Given the description of an element on the screen output the (x, y) to click on. 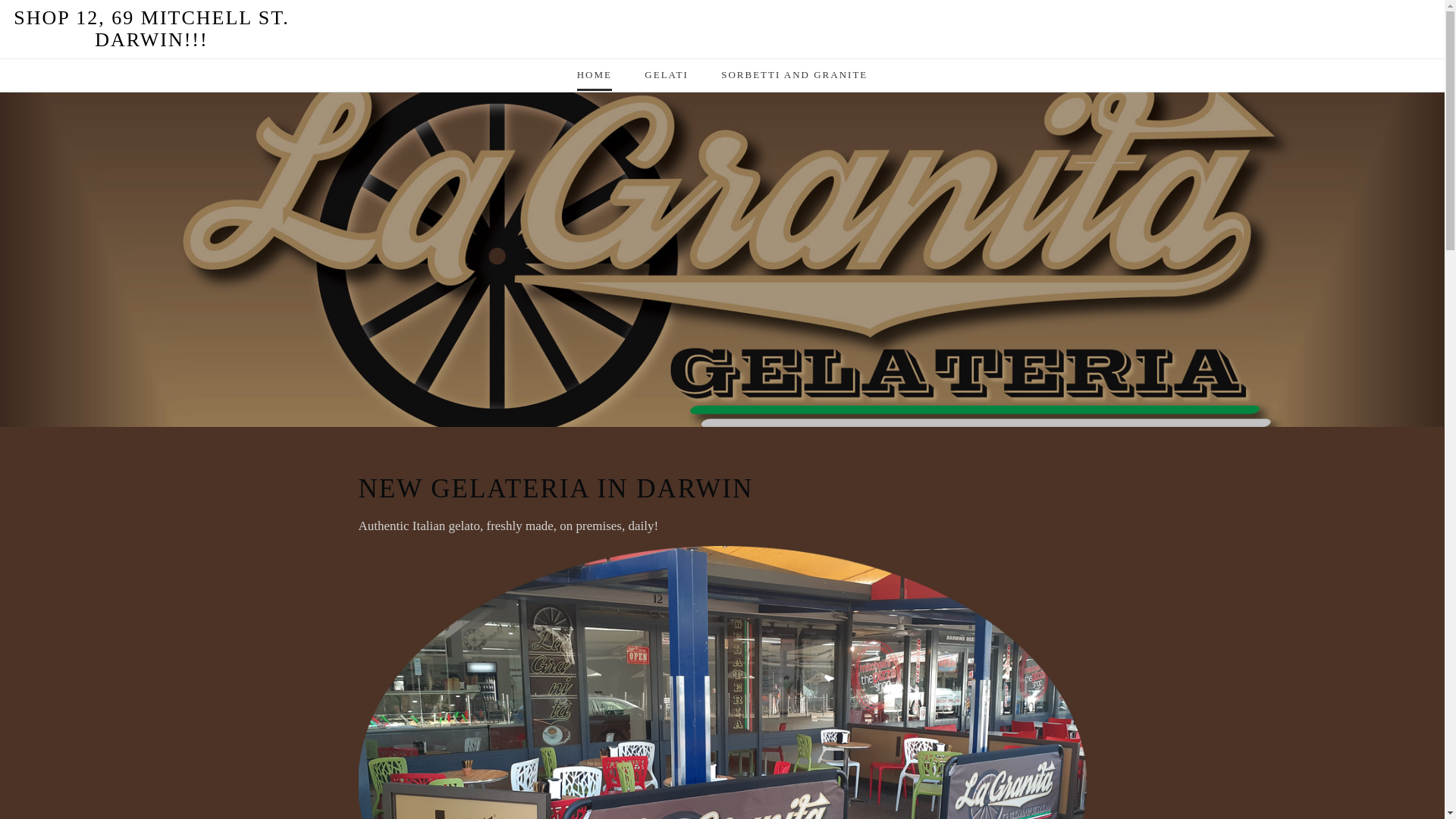
SHOP 12, 69 MITCHELL ST. DARWIN!!! Element type: text (722, 28)
SORBETTI AND GRANITE Element type: text (794, 80)
HOME Element type: text (594, 80)
GELATI Element type: text (666, 80)
